Given the description of an element on the screen output the (x, y) to click on. 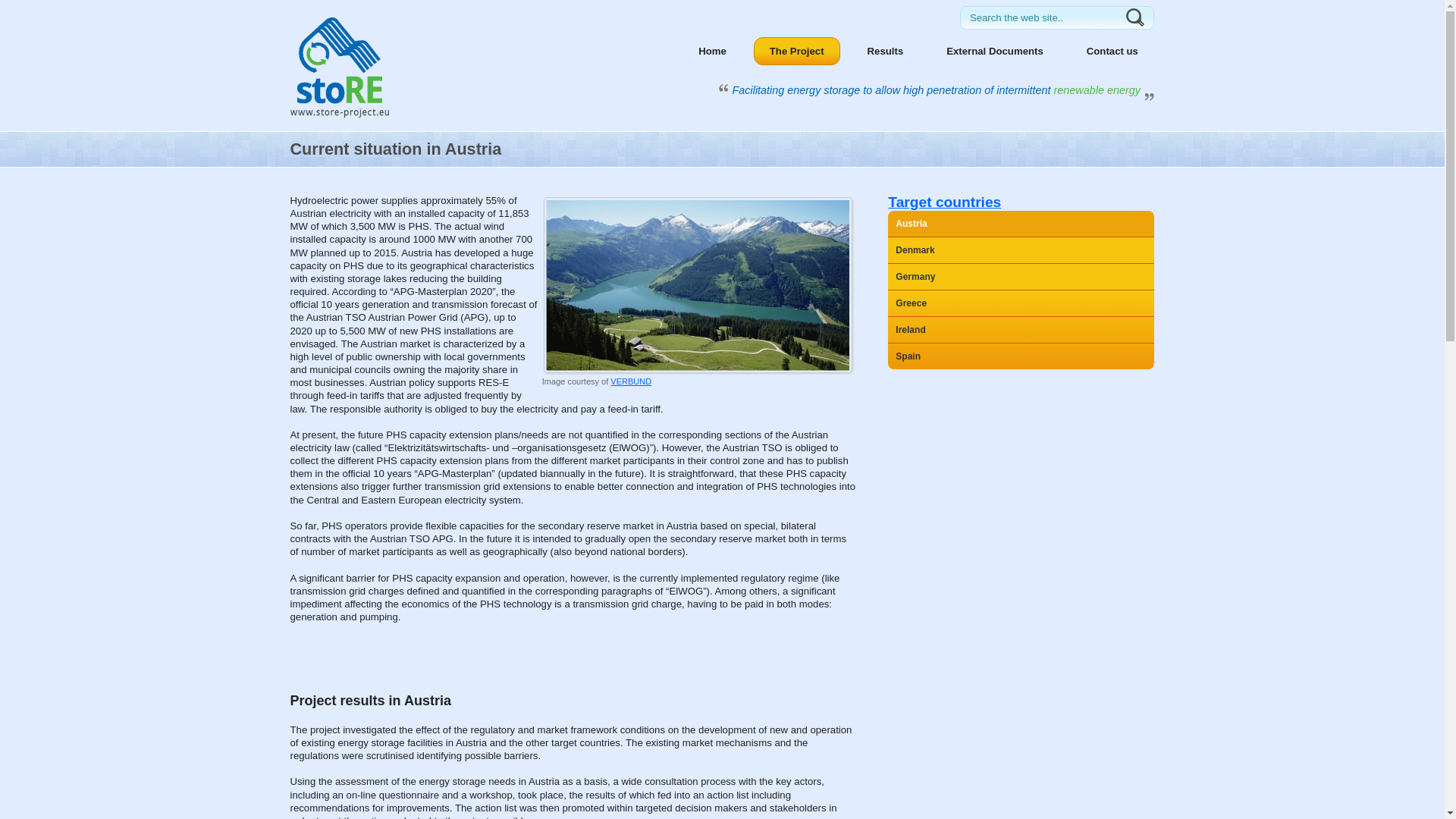
Home (712, 50)
Spain (1021, 356)
Perform a search on the web site (1045, 17)
VERBUND (630, 380)
Target countries (944, 201)
Results (885, 50)
Austria (1021, 223)
Contact us (1112, 50)
Greece (1021, 303)
stoRE project home page (338, 113)
